Given the description of an element on the screen output the (x, y) to click on. 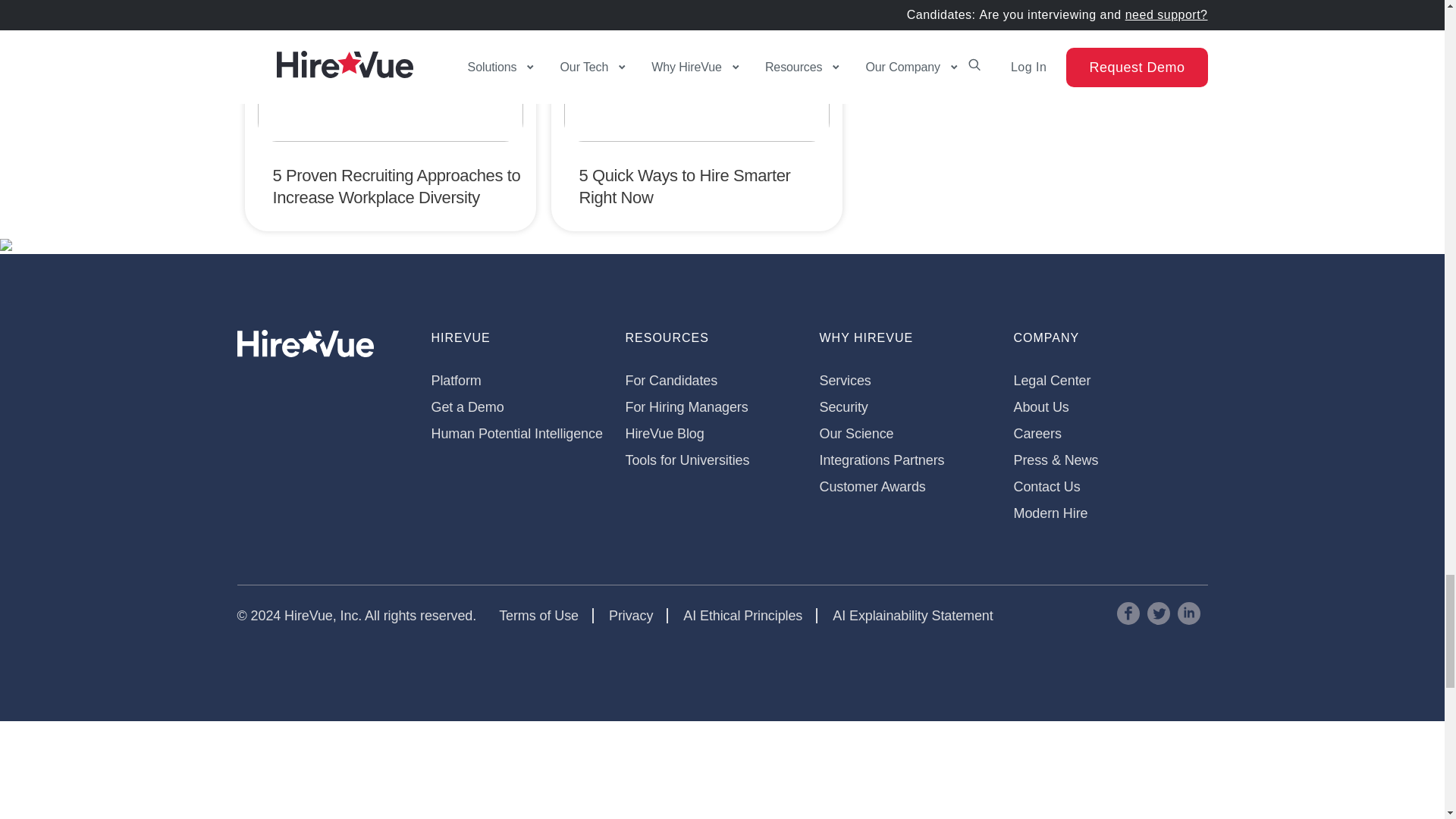
Get a Demo (466, 406)
Tools for Universities (686, 459)
Get a Demo (466, 406)
For Candidates (670, 380)
Our Science (855, 433)
Platform (455, 380)
Services (844, 380)
Platform (455, 380)
Careers (1037, 433)
For Hiring Managers (686, 406)
